Given the description of an element on the screen output the (x, y) to click on. 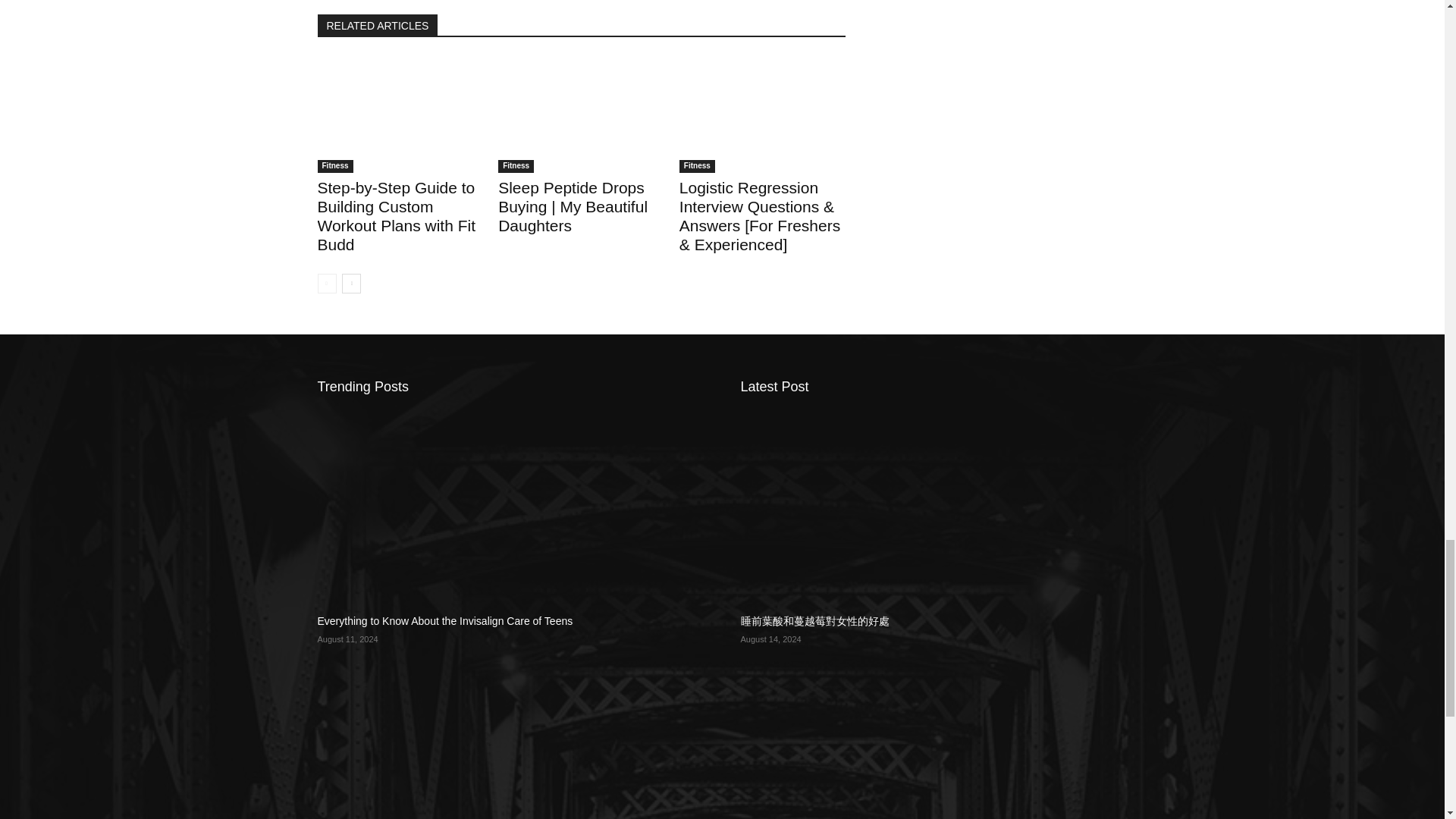
Fitness (696, 165)
Fitness (334, 165)
Fitness (515, 165)
